Given the description of an element on the screen output the (x, y) to click on. 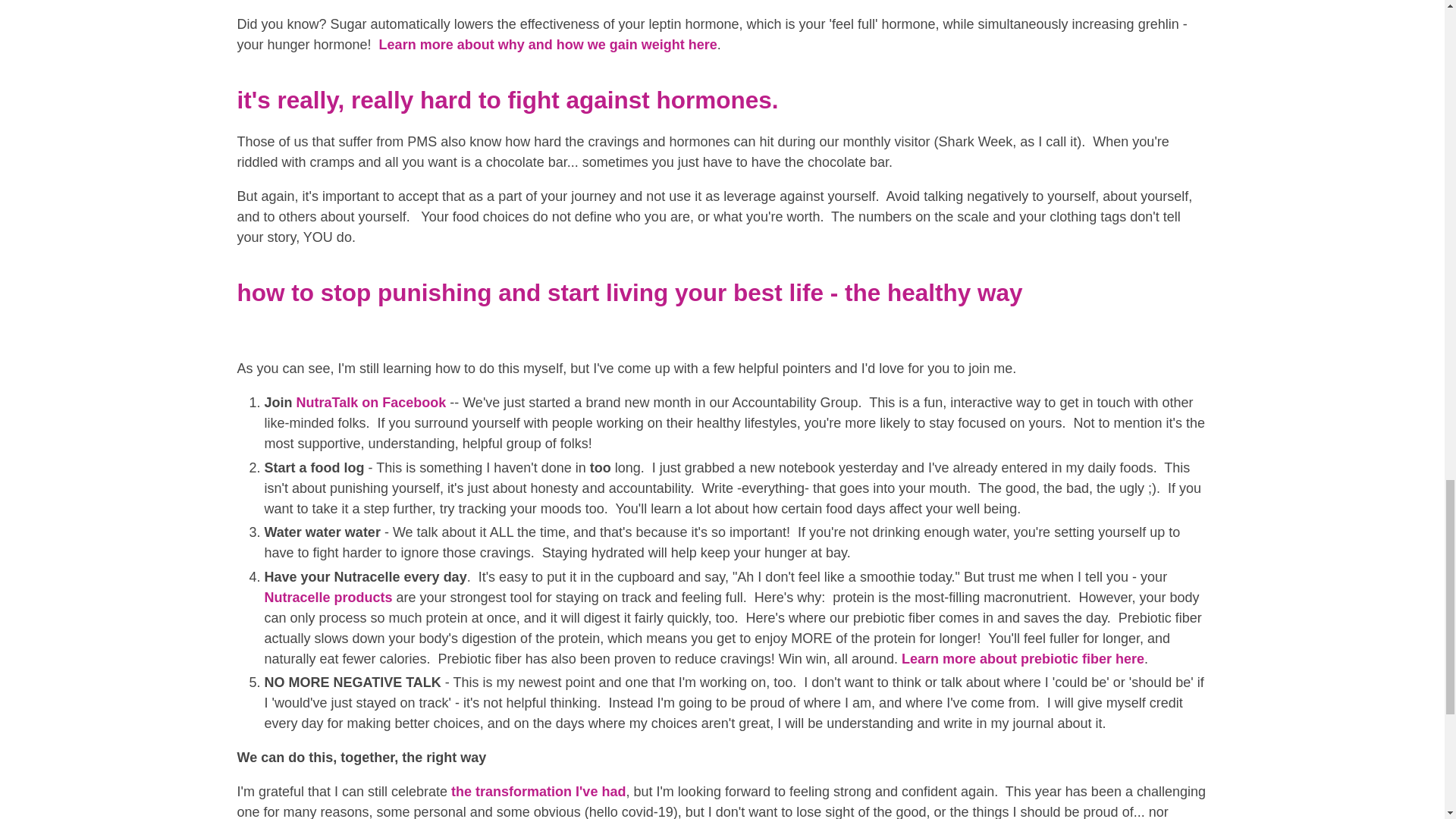
allergen-friendly protein products (327, 597)
weight loss transformation (538, 791)
